Given the description of an element on the screen output the (x, y) to click on. 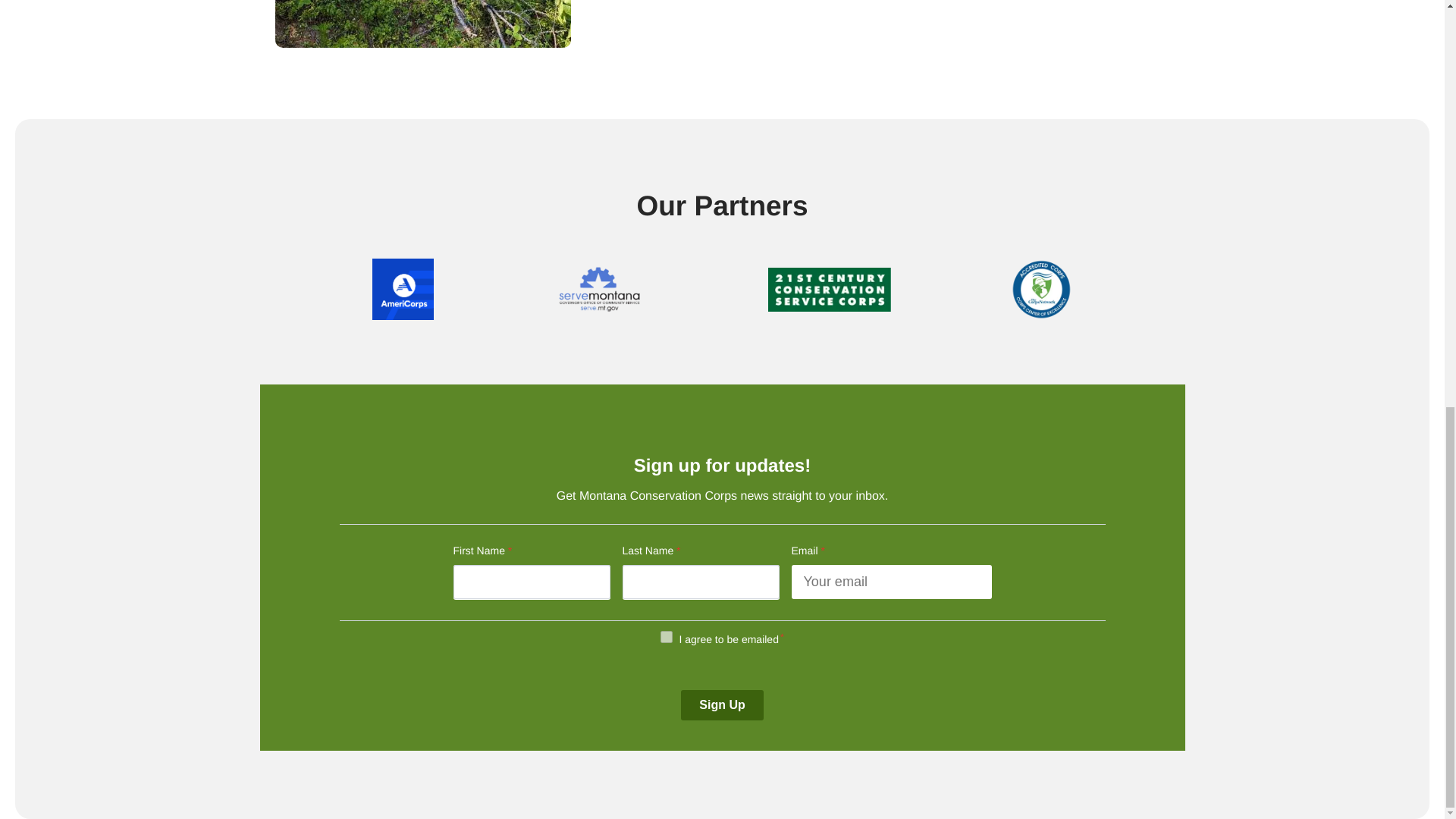
on (666, 636)
